Given the description of an element on the screen output the (x, y) to click on. 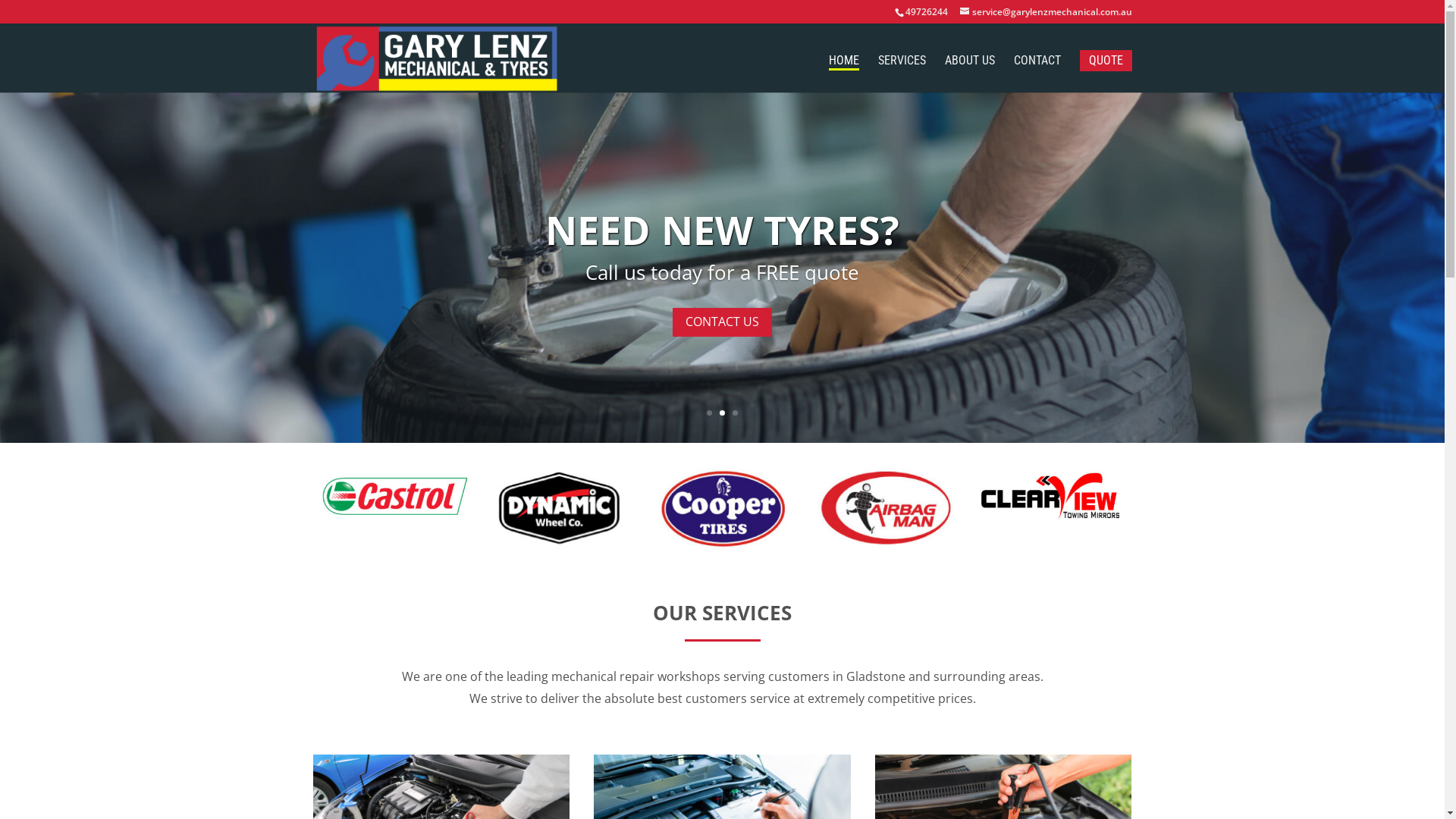
SERVICES Element type: text (901, 73)
service@garylenzmechanical.com.au Element type: text (1046, 11)
1 Element type: text (709, 412)
2 Element type: text (721, 412)
NEED NEW TYRES? Element type: text (722, 229)
CONTACT US Element type: text (721, 322)
3 Element type: text (734, 412)
QUOTE Element type: text (1105, 60)
ABOUT US Element type: text (969, 73)
CONTACT Element type: text (1036, 73)
HOME Element type: text (843, 62)
